Given the description of an element on the screen output the (x, y) to click on. 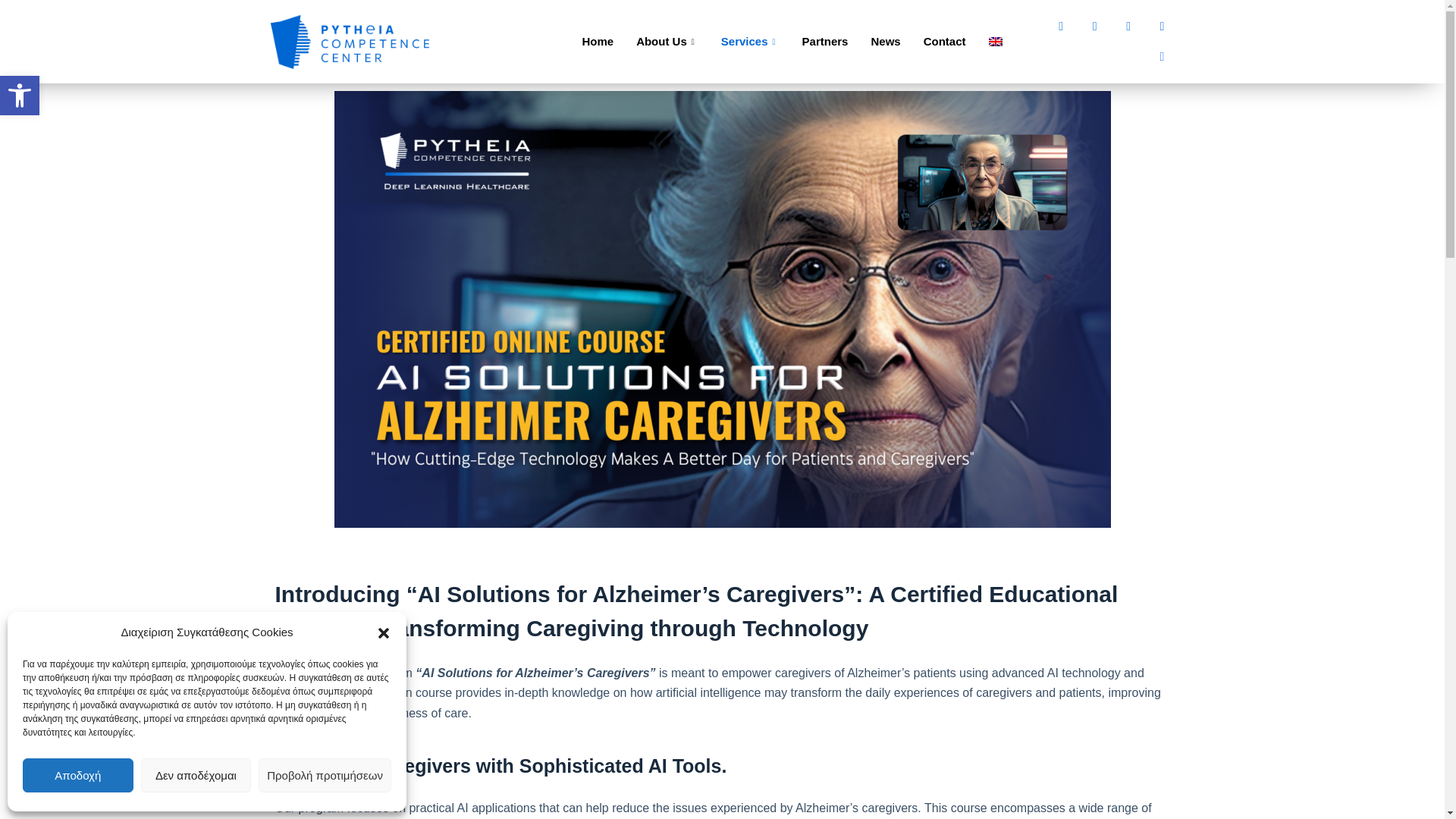
About Us (667, 41)
Home (597, 41)
Accessibility Tools (19, 95)
Partners (825, 41)
Skip to content (19, 95)
Services (15, 7)
Accessibility Tools (750, 41)
